Given the description of an element on the screen output the (x, y) to click on. 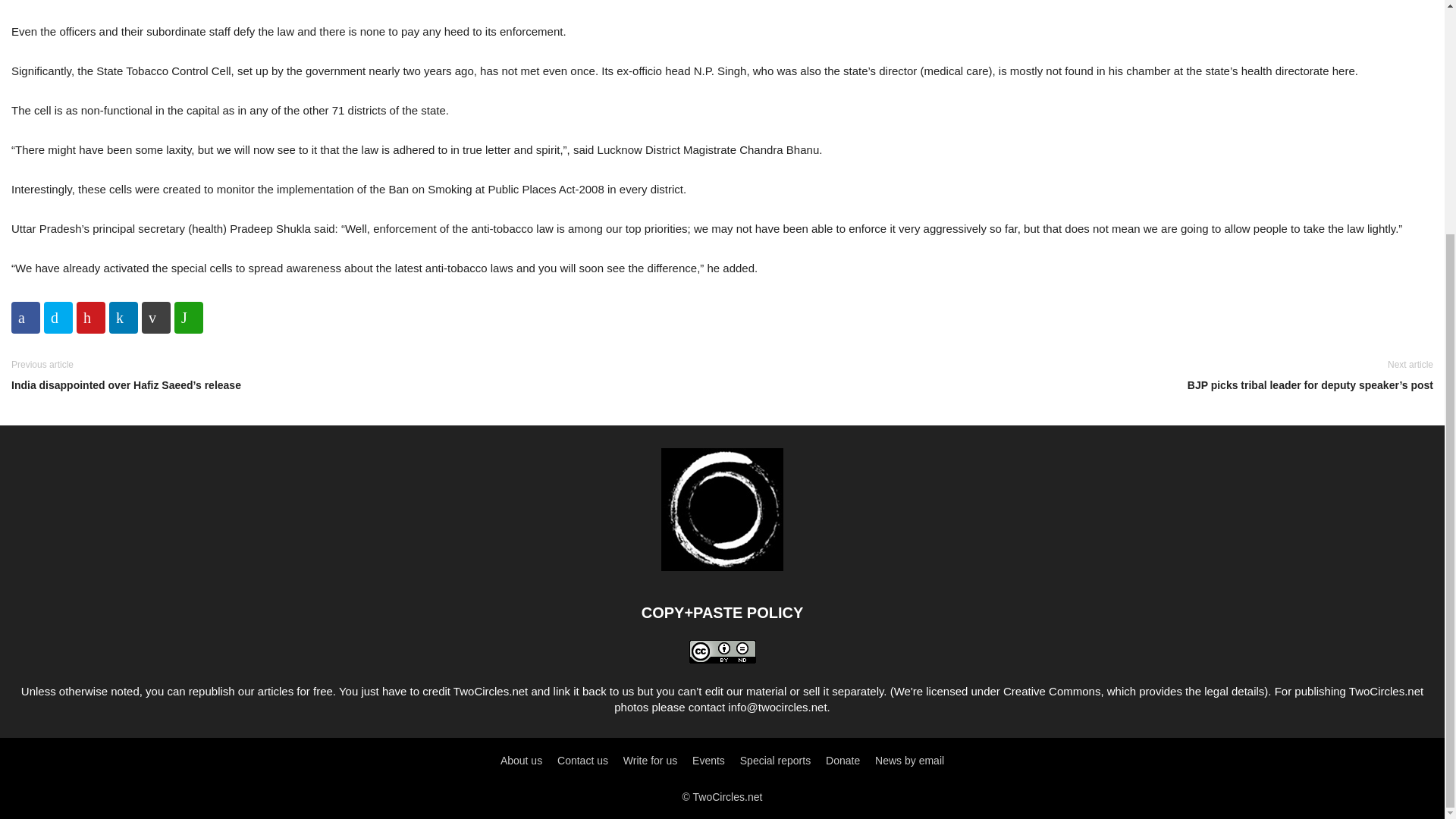
Special reports (774, 760)
Share on WhatsApp (188, 317)
Share on Twitter (57, 317)
Share on Email (155, 317)
Events (709, 760)
Write for us (650, 760)
Share on LinkedIn (123, 317)
Share on Facebook (25, 317)
Contact us (582, 760)
Donate (842, 760)
About us (520, 760)
News by email (909, 760)
Creative Commons (1051, 690)
Share on Pinterest (90, 317)
